Given the description of an element on the screen output the (x, y) to click on. 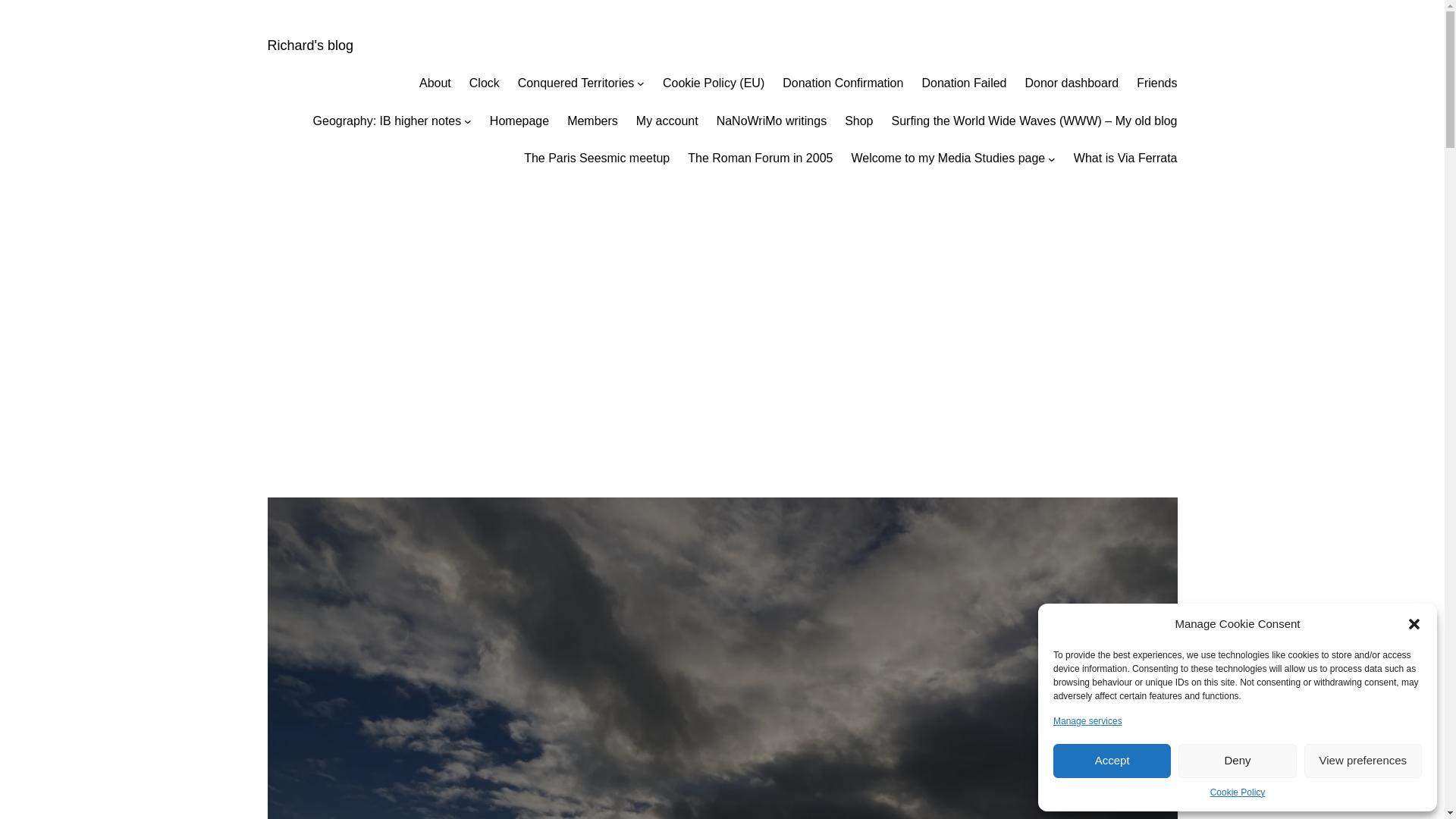
Donation Confirmation (842, 83)
Conquered Territories (576, 83)
View preferences (1363, 760)
Donor dashboard (1072, 83)
Clock (483, 83)
Donation Failed (963, 83)
About (435, 83)
Accept (1111, 760)
Geography: IB higher notes (387, 121)
Manage services (1087, 721)
Friends (1156, 83)
Cookie Policy (1237, 792)
Deny (1236, 760)
Richard's blog (309, 45)
